Given the description of an element on the screen output the (x, y) to click on. 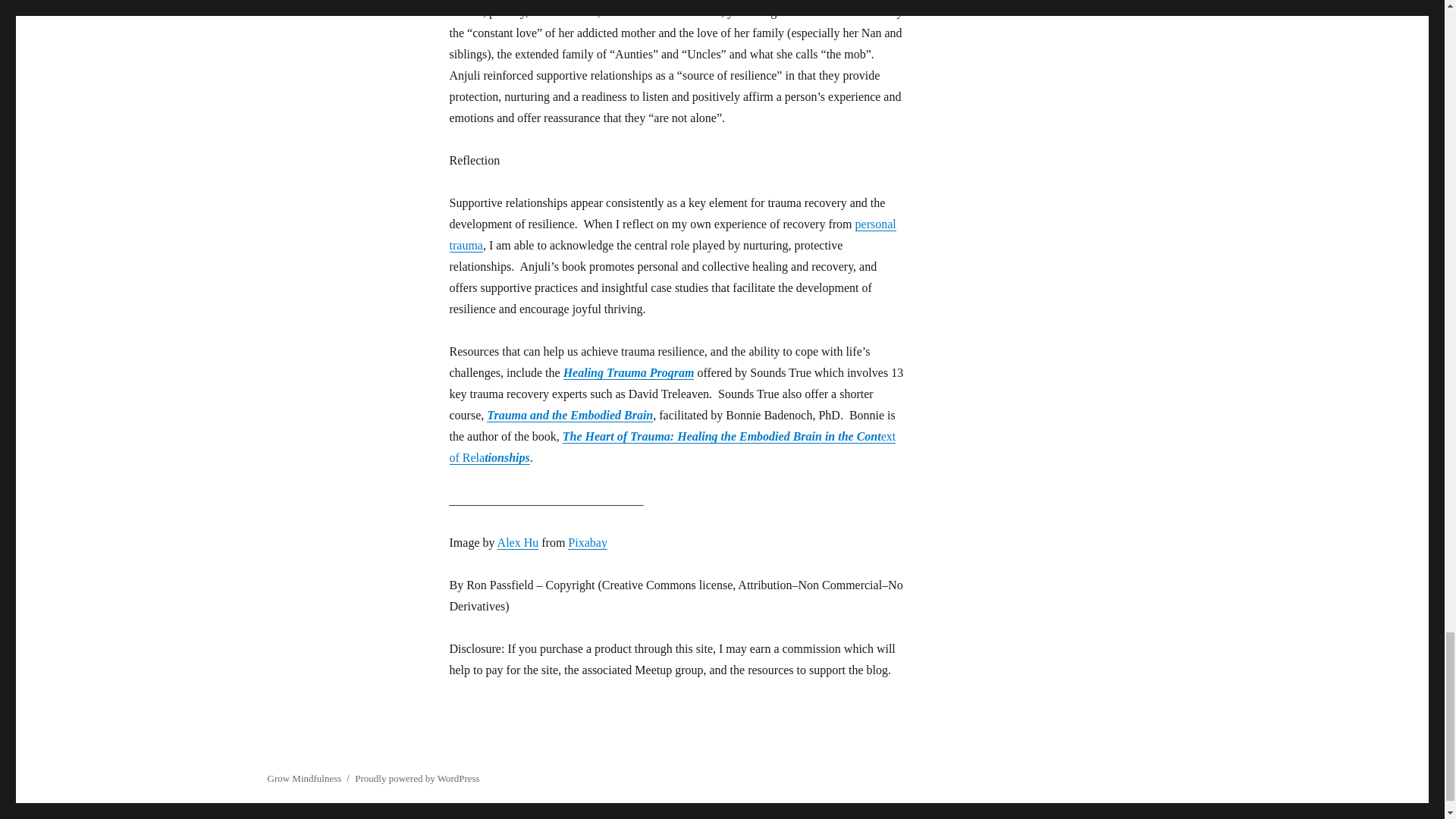
personal trauma (671, 234)
Healing Trauma Program (628, 372)
Trauma and the Embodied Brain (569, 414)
Pixabay (587, 542)
Alex Hu (517, 542)
